Given the description of an element on the screen output the (x, y) to click on. 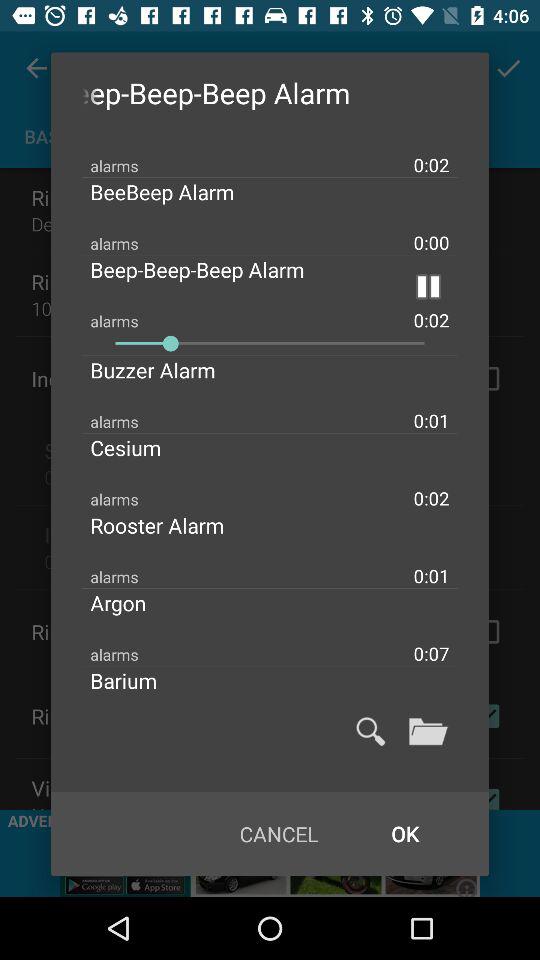
launch item below 0:02 (178, 191)
